Given the description of an element on the screen output the (x, y) to click on. 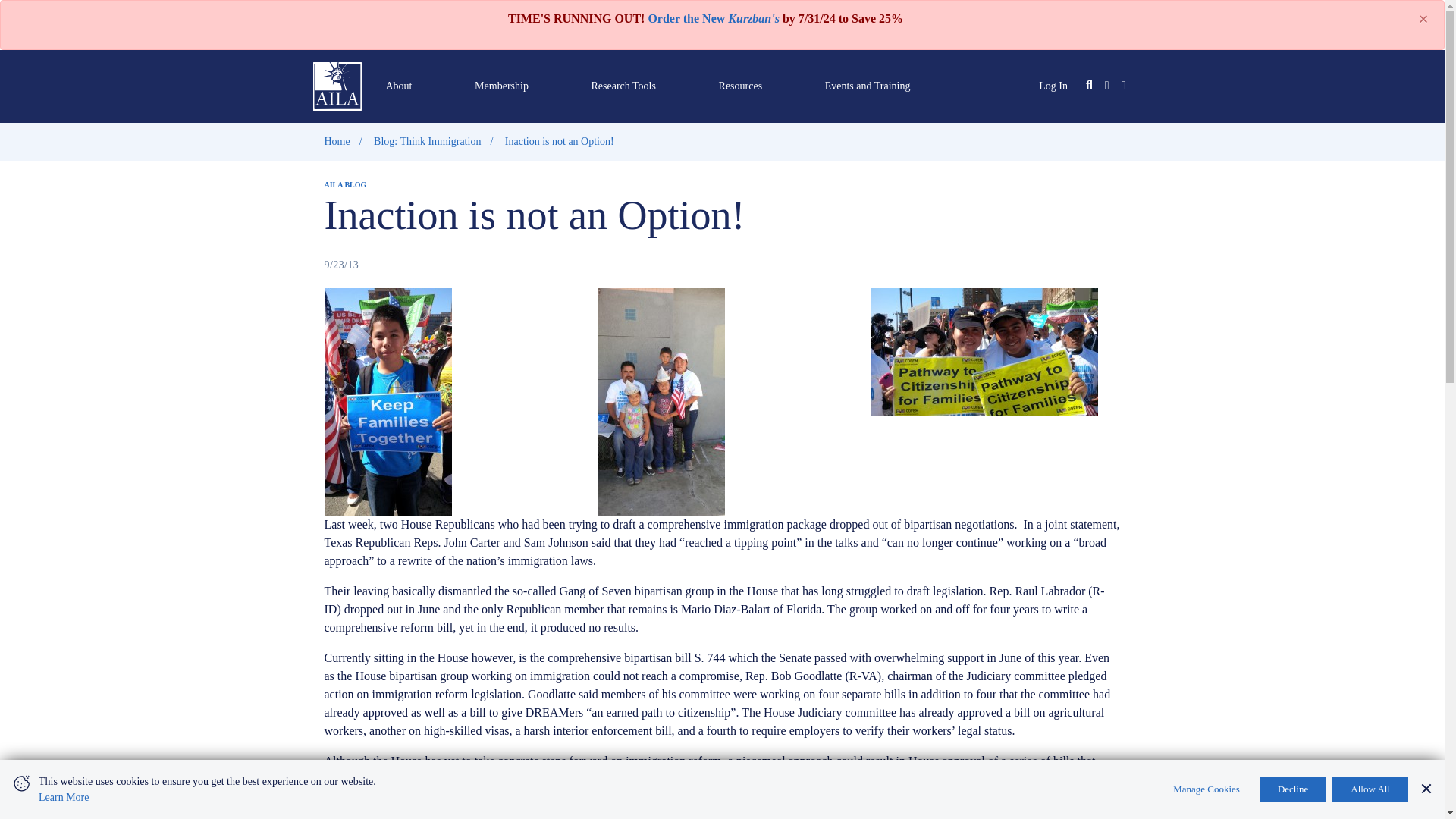
Log In (1053, 85)
Order the New Kurzban's (712, 18)
Log In (1053, 85)
